Given the description of an element on the screen output the (x, y) to click on. 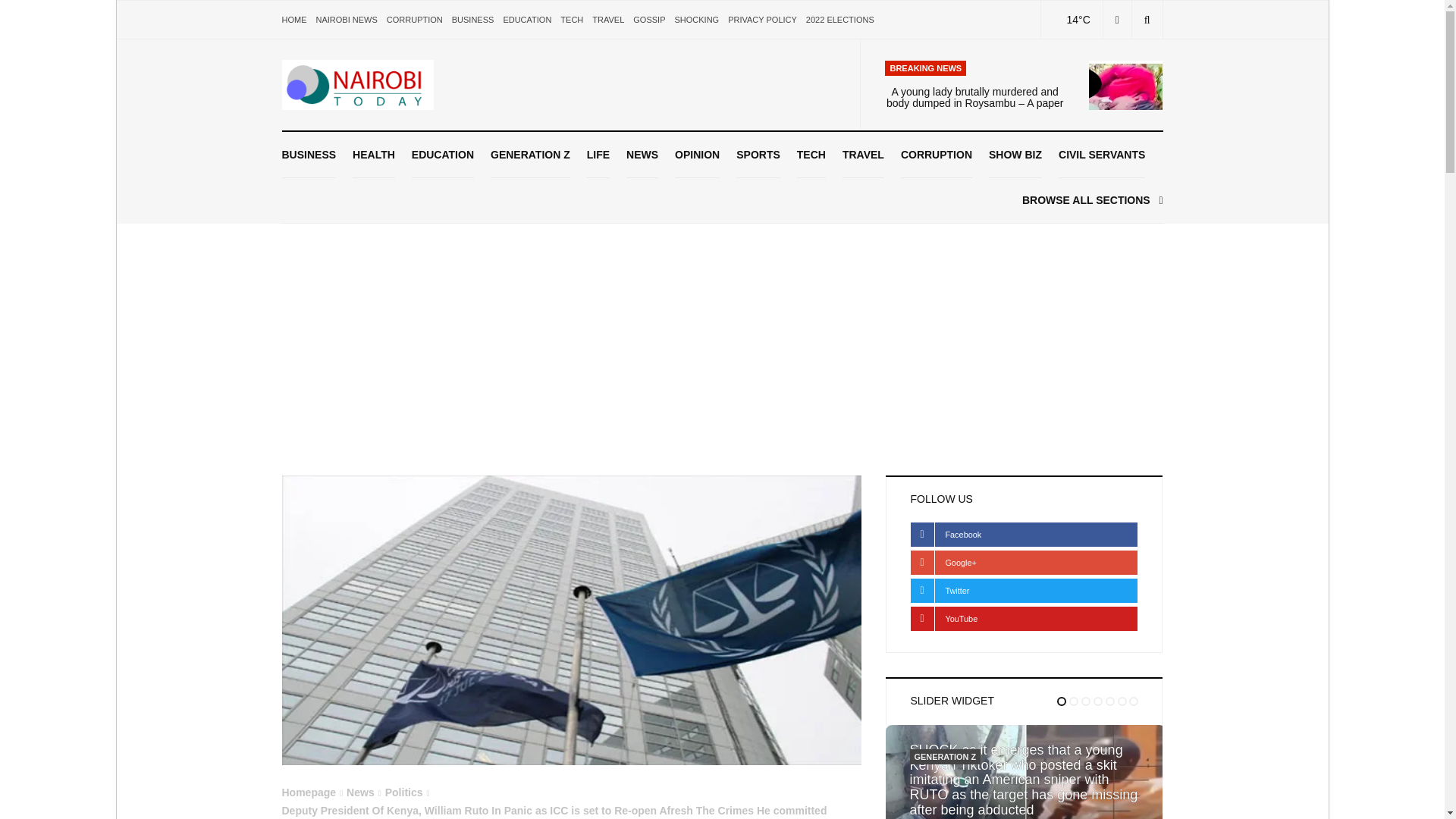
SHOCKING (696, 19)
2022 ELECTIONS (840, 19)
CORRUPTION (414, 19)
Homepage (309, 792)
EDUCATION (526, 19)
BUSINESS (473, 19)
BUSINESS (309, 154)
PRIVACY POLICY (762, 19)
Weather Forecast (1070, 19)
NAIROBI NEWS (346, 19)
